Given the description of an element on the screen output the (x, y) to click on. 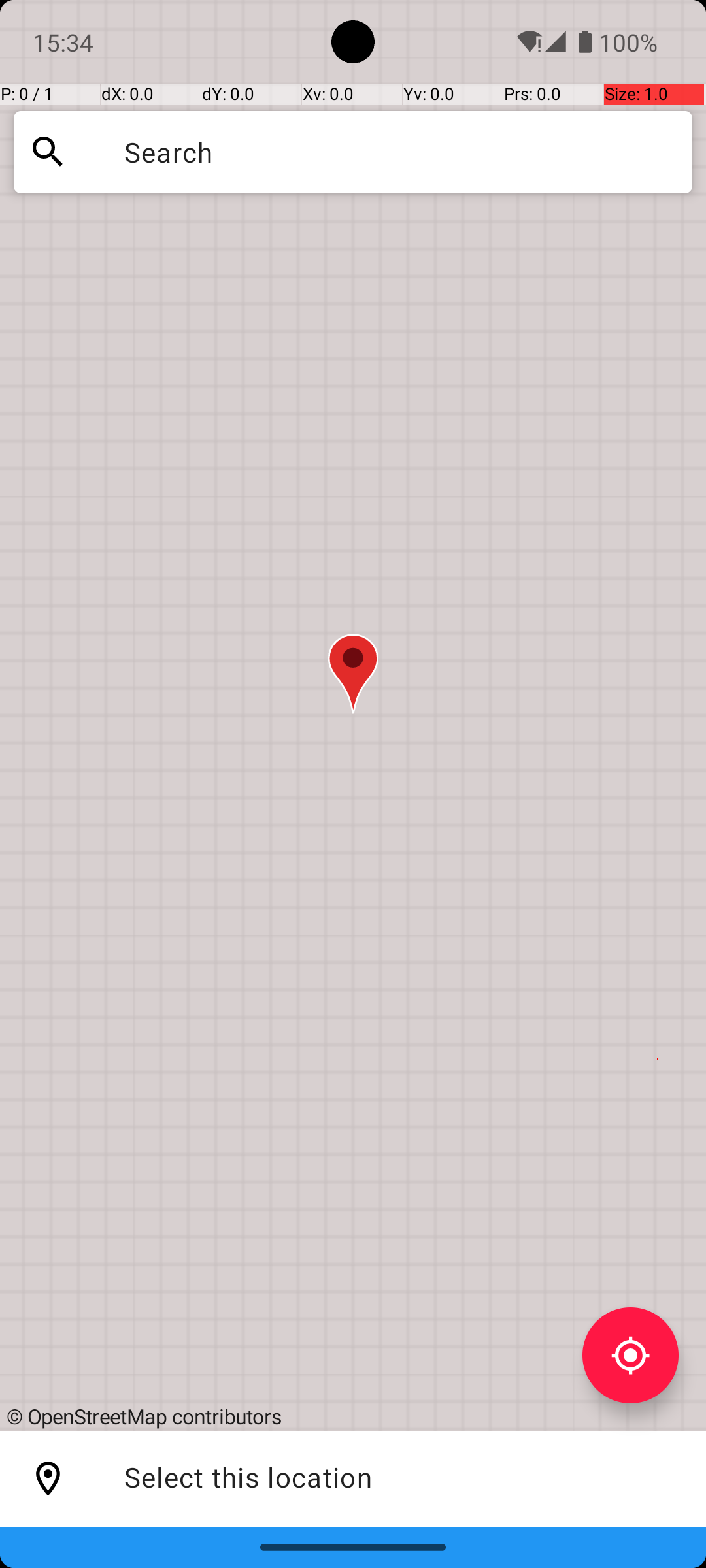
Select this location Element type: android.widget.ImageView (47, 1478)
